Given the description of an element on the screen output the (x, y) to click on. 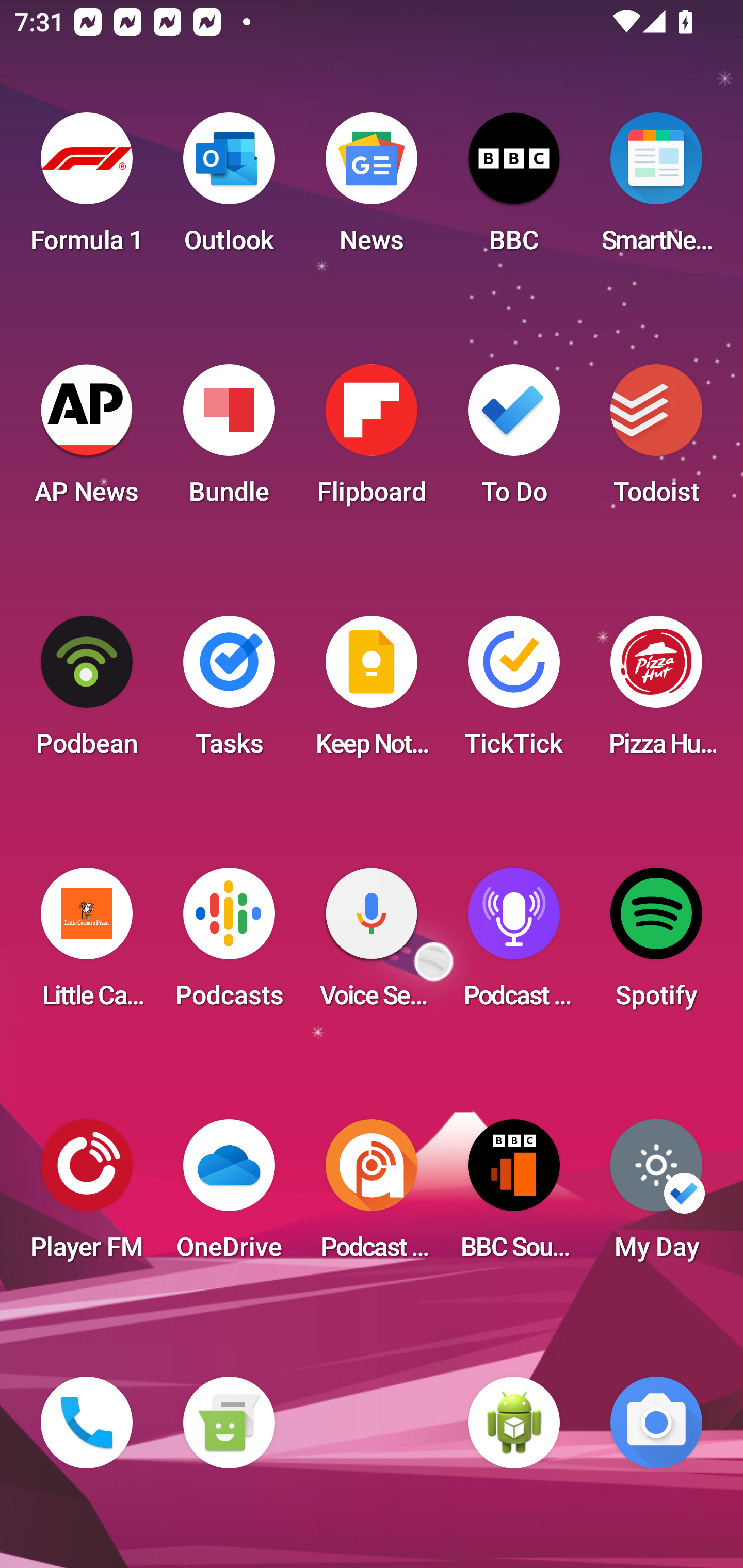
Formula 1 (86, 188)
Outlook (228, 188)
News (371, 188)
BBC (513, 188)
SmartNews (656, 188)
AP News (86, 440)
Bundle (228, 440)
Flipboard (371, 440)
To Do (513, 440)
Todoist (656, 440)
Podbean (86, 692)
Tasks (228, 692)
Keep Notes (371, 692)
TickTick (513, 692)
Pizza Hut HK & Macau (656, 692)
Little Caesars Pizza (86, 943)
Podcasts (228, 943)
Voice Search (371, 943)
Podcast Player (513, 943)
Spotify (656, 943)
Player FM (86, 1195)
OneDrive (228, 1195)
Podcast Addict (371, 1195)
BBC Sounds (513, 1195)
My Day (656, 1195)
Phone (86, 1422)
Messaging (228, 1422)
WebView Browser Tester (513, 1422)
Camera (656, 1422)
